Given the description of an element on the screen output the (x, y) to click on. 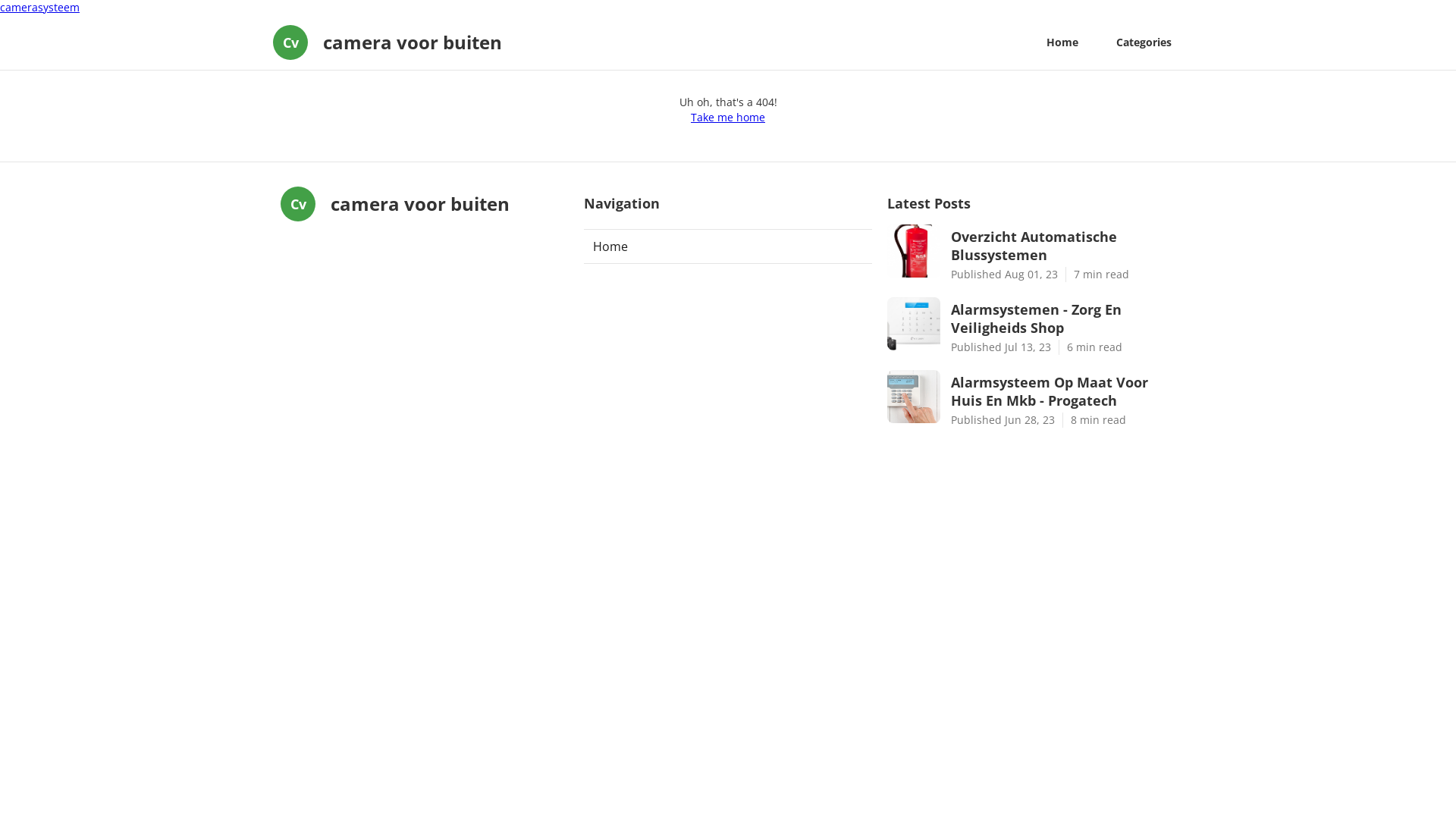
Home Element type: text (1062, 42)
Home Element type: text (727, 246)
camerasysteem Element type: text (39, 7)
Alarmsysteem Op Maat Voor Huis En Mkb - Progatech Element type: text (1062, 391)
Categories Element type: text (1143, 42)
Alarmsystemen - Zorg En Veiligheids Shop Element type: text (1062, 318)
Take me home Element type: text (727, 117)
Overzicht Automatische Blussystemen Element type: text (1062, 245)
